Given the description of an element on the screen output the (x, y) to click on. 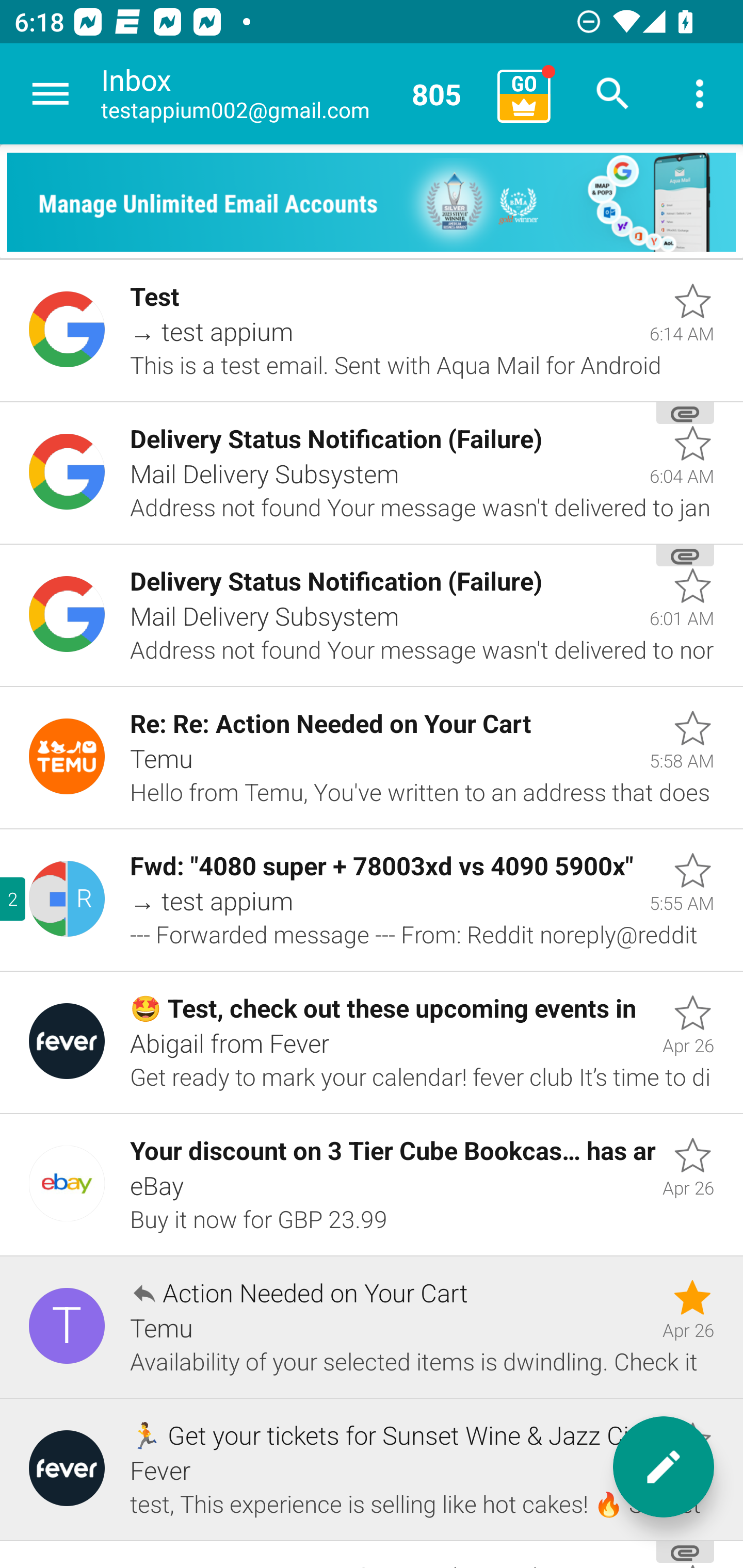
Navigate up (50, 93)
Inbox testappium002@gmail.com 805 (291, 93)
Search (612, 93)
More options (699, 93)
New message (663, 1466)
